Given the description of an element on the screen output the (x, y) to click on. 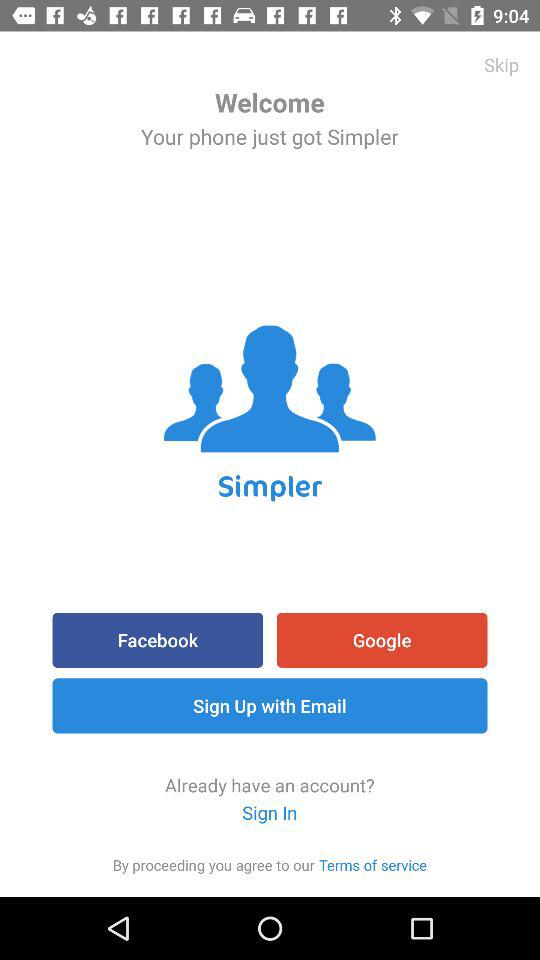
select icon above the sign up with item (381, 639)
